Given the description of an element on the screen output the (x, y) to click on. 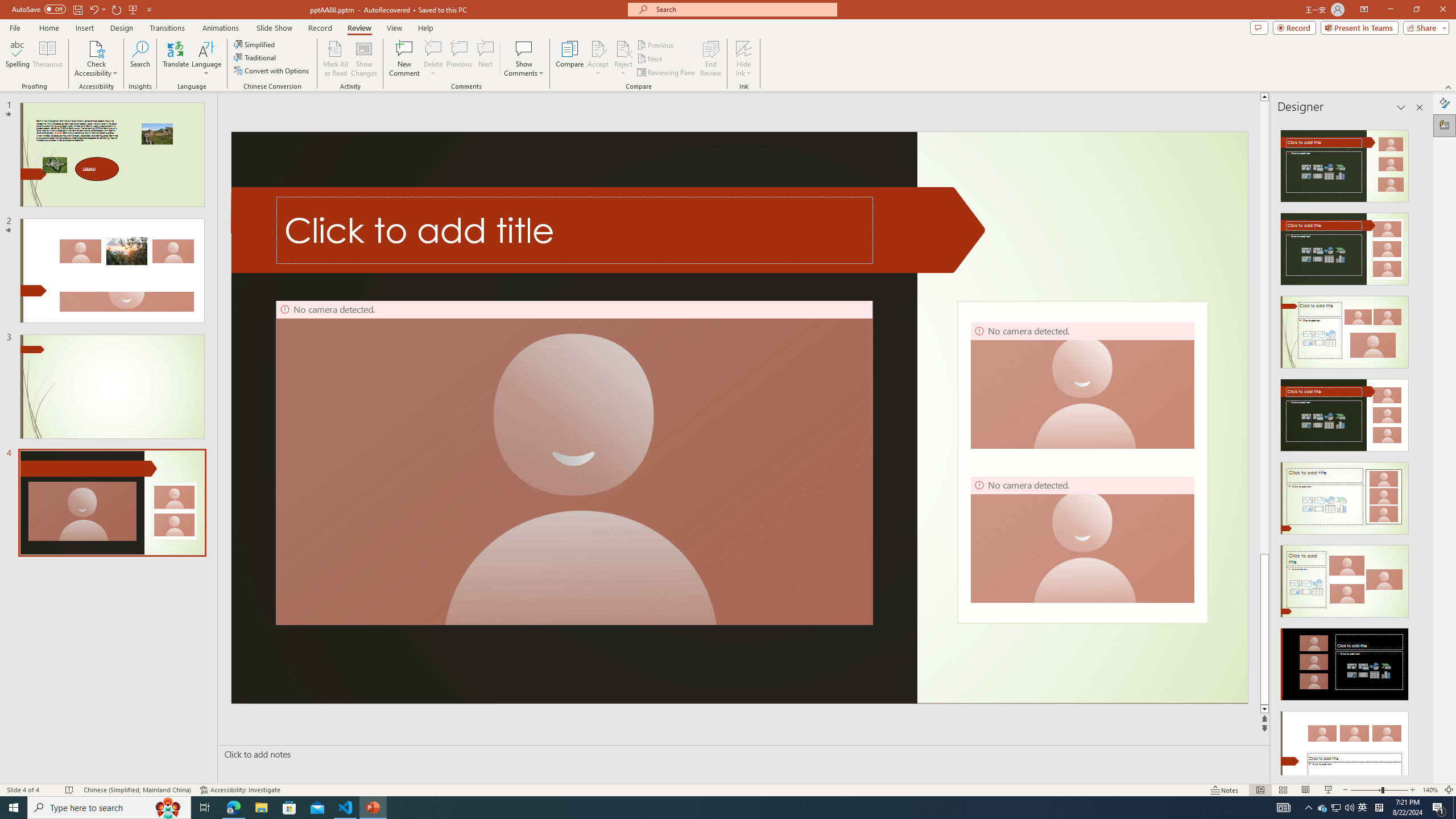
Microsoft search (742, 9)
Hide Ink (743, 58)
Recommended Design: Design Idea (1344, 162)
Slide Notes (741, 754)
Accessibility Checker Accessibility: Investigate (240, 790)
